Given the description of an element on the screen output the (x, y) to click on. 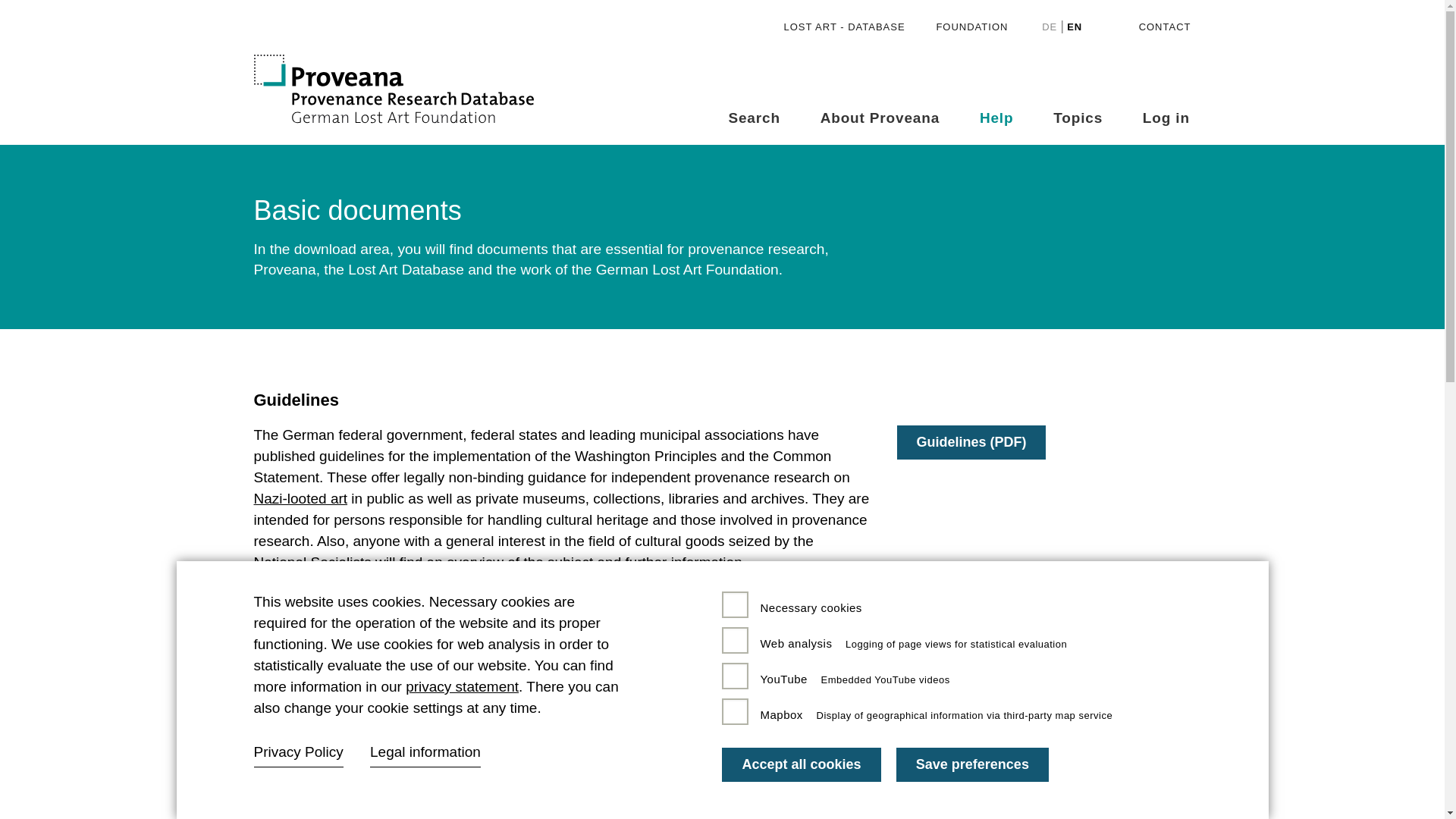
Provenance Research Manual Annex (981, 701)
Help (996, 117)
Handreichung  (970, 442)
Provenance Research Manual (959, 653)
Search (753, 117)
LOST ART - DATABASE (849, 27)
DE (1049, 27)
EN (1074, 27)
Log in (1165, 117)
Home (412, 91)
